Given the description of an element on the screen output the (x, y) to click on. 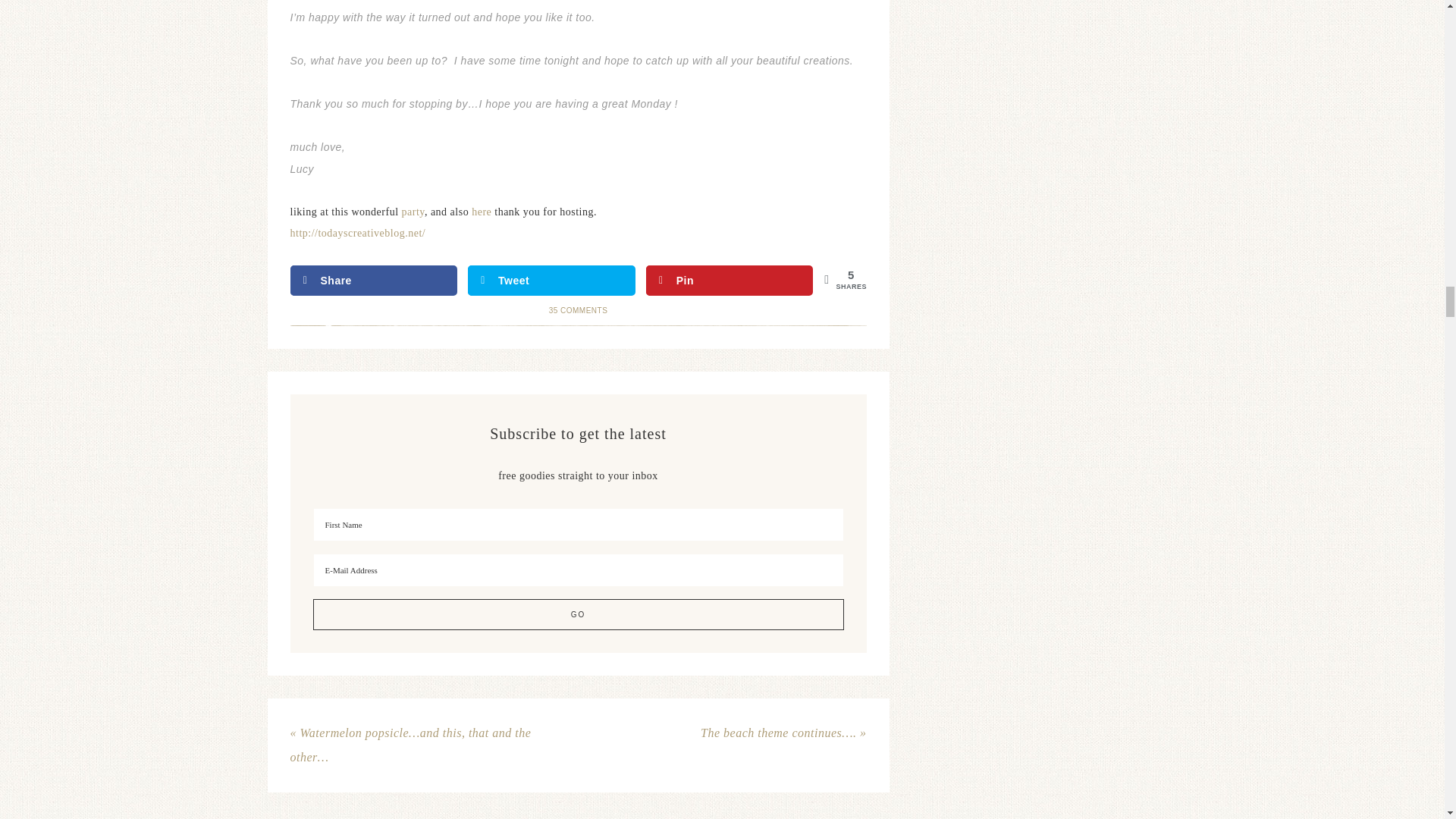
Share on Facebook (373, 280)
Save to Pinterest (729, 280)
Go (578, 613)
Share on Twitter (550, 280)
